Given the description of an element on the screen output the (x, y) to click on. 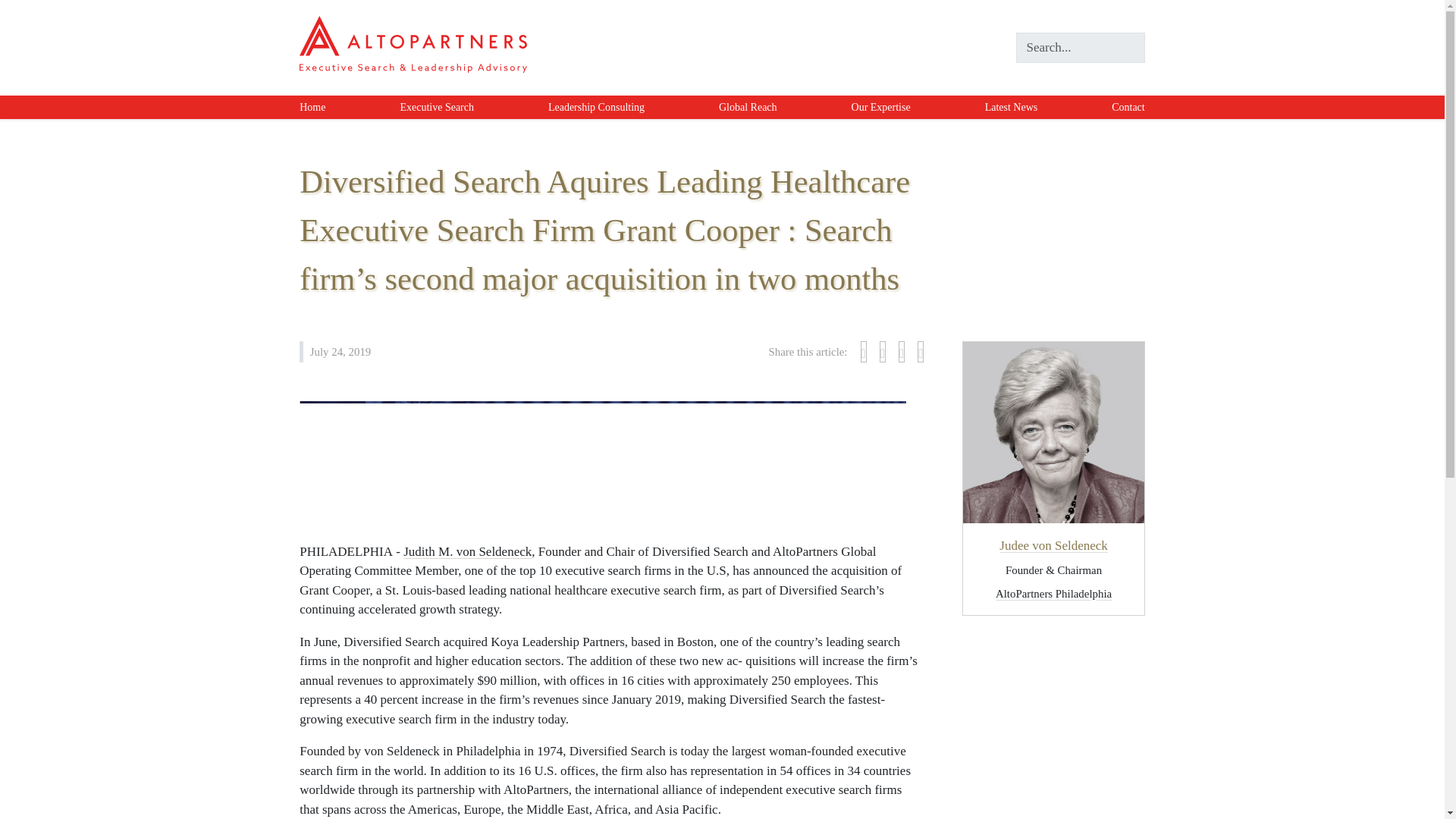
Home (311, 107)
Leadership Consulting (596, 107)
Our Expertise (881, 107)
AltoPartners Philadelphia (1053, 593)
Executive Search (436, 107)
Global Reach (748, 107)
Judith M. von Seldeneck (467, 551)
Latest News (1011, 107)
Contact (1128, 107)
Judee von Seldeneck (1053, 545)
